Given the description of an element on the screen output the (x, y) to click on. 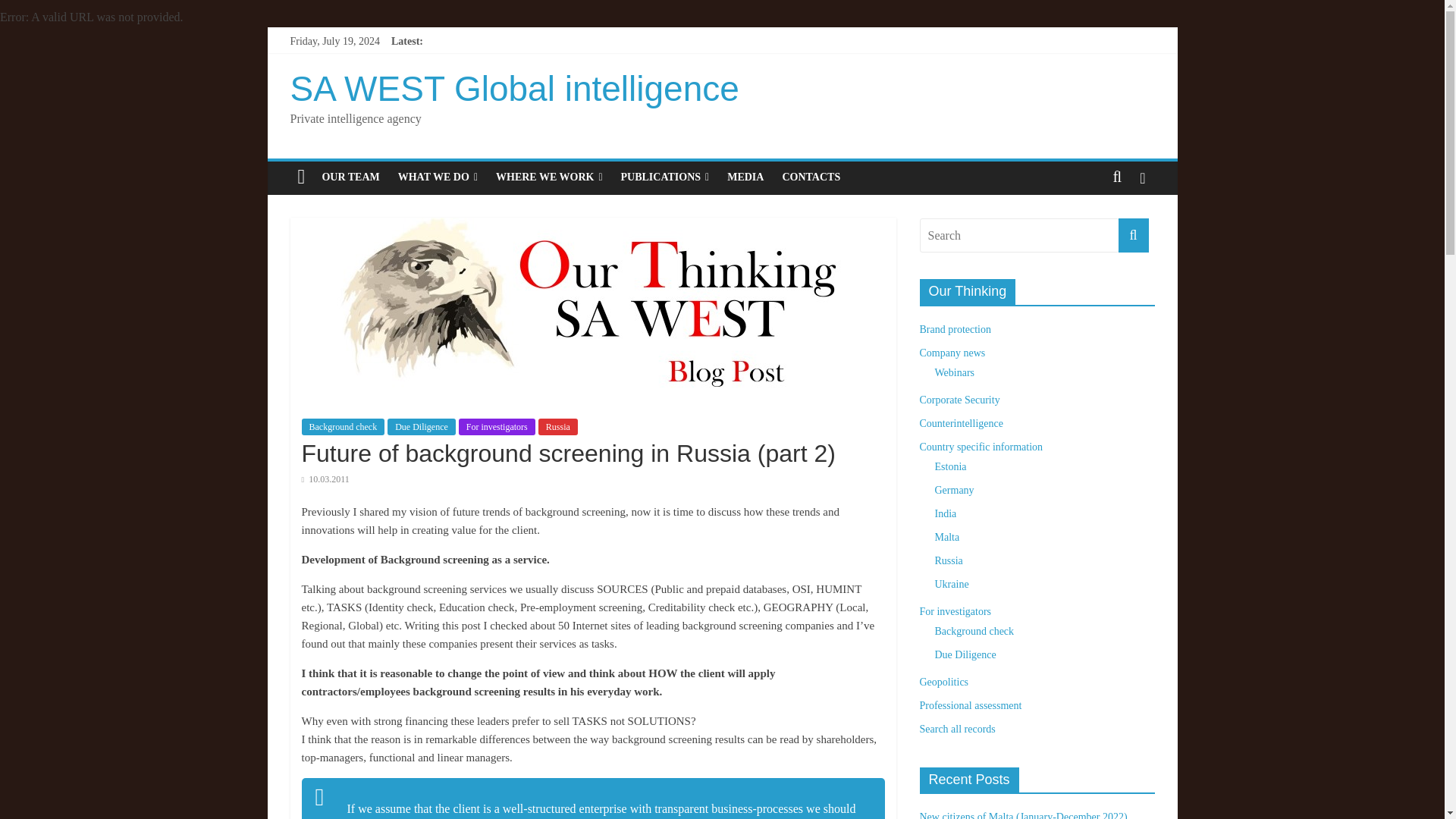
02:31 (325, 479)
PUBLICATIONS (665, 177)
Due Diligence (421, 426)
WHERE WE WORK (548, 177)
MEDIA (745, 177)
CONTACTS (810, 177)
For investigators (496, 426)
WHAT WE DO (437, 177)
SA WEST Global intelligence (513, 88)
OUR TEAM (350, 177)
SA WEST Global intelligence (513, 88)
Background check (343, 426)
View a random post (1142, 177)
SA WEST Global intelligence (301, 177)
